Given the description of an element on the screen output the (x, y) to click on. 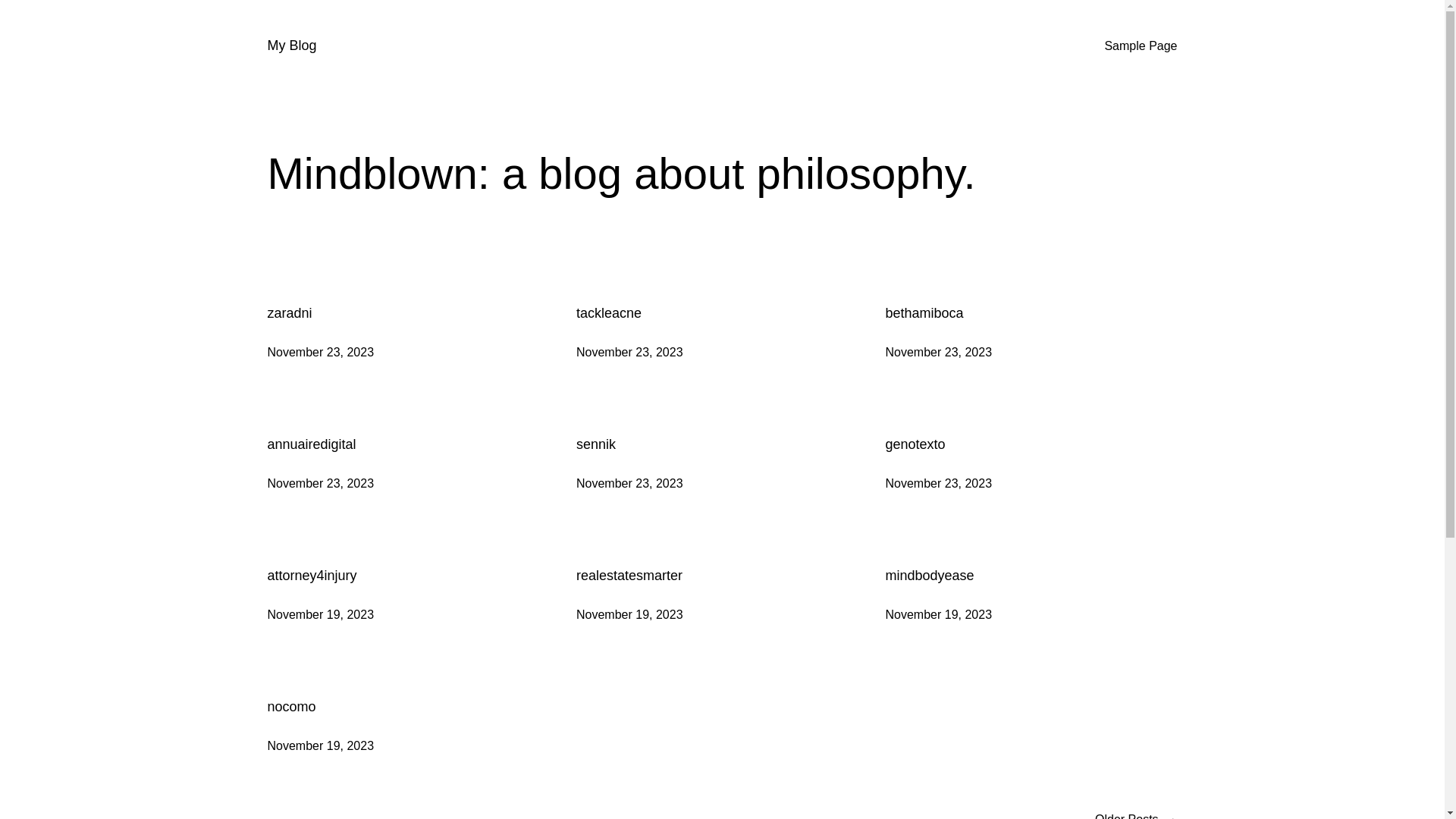
November 23, 2023 Element type: text (629, 482)
November 23, 2023 Element type: text (629, 351)
November 19, 2023 Element type: text (319, 745)
Sample Page Element type: text (1140, 46)
My Blog Element type: text (291, 45)
November 19, 2023 Element type: text (629, 614)
November 23, 2023 Element type: text (938, 351)
November 23, 2023 Element type: text (938, 482)
November 23, 2023 Element type: text (319, 482)
November 19, 2023 Element type: text (319, 614)
November 19, 2023 Element type: text (938, 614)
November 23, 2023 Element type: text (319, 351)
